Given the description of an element on the screen output the (x, y) to click on. 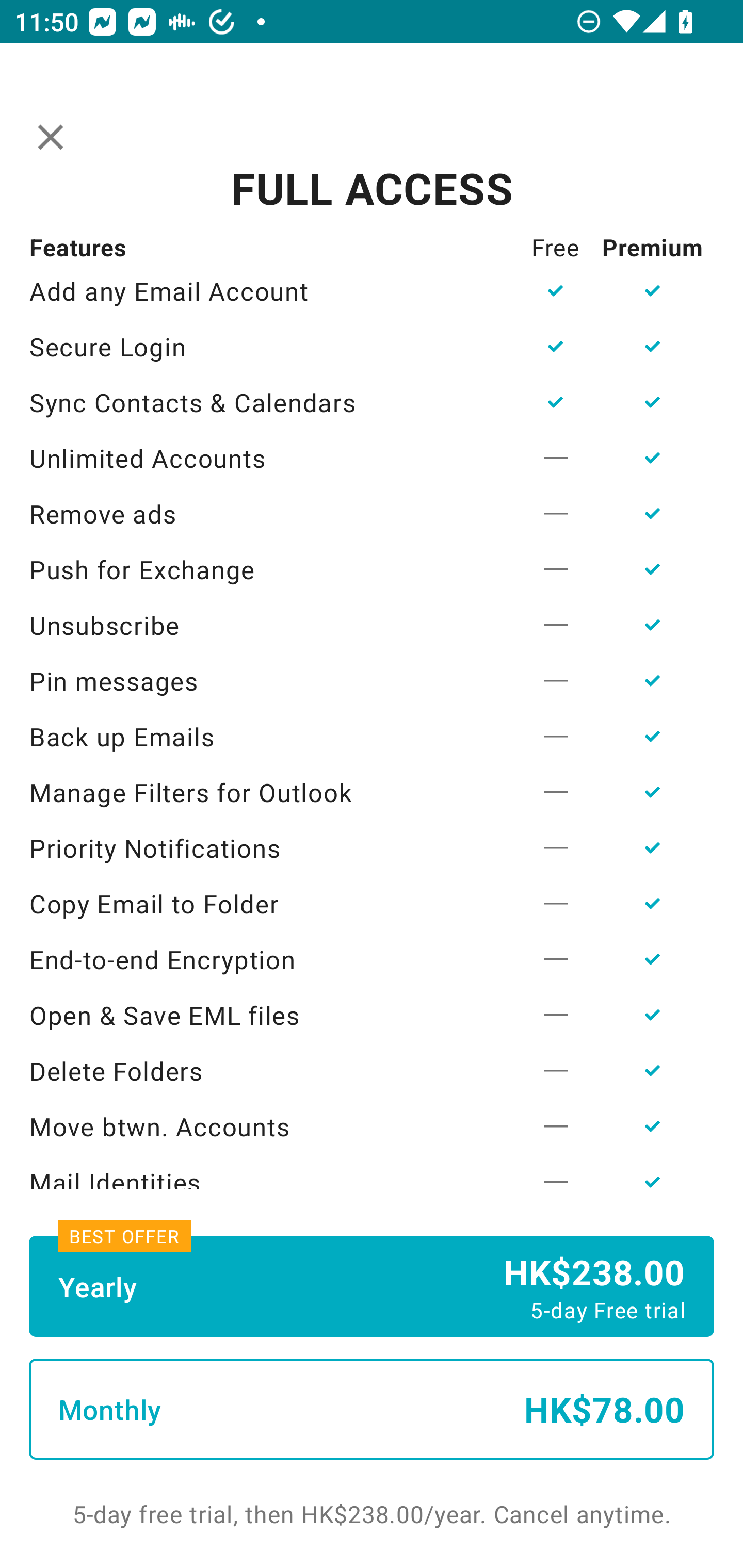
Yearly HK$238.00 5-day Free trial (371, 1286)
Monthly HK$78.00 (371, 1408)
